Given the description of an element on the screen output the (x, y) to click on. 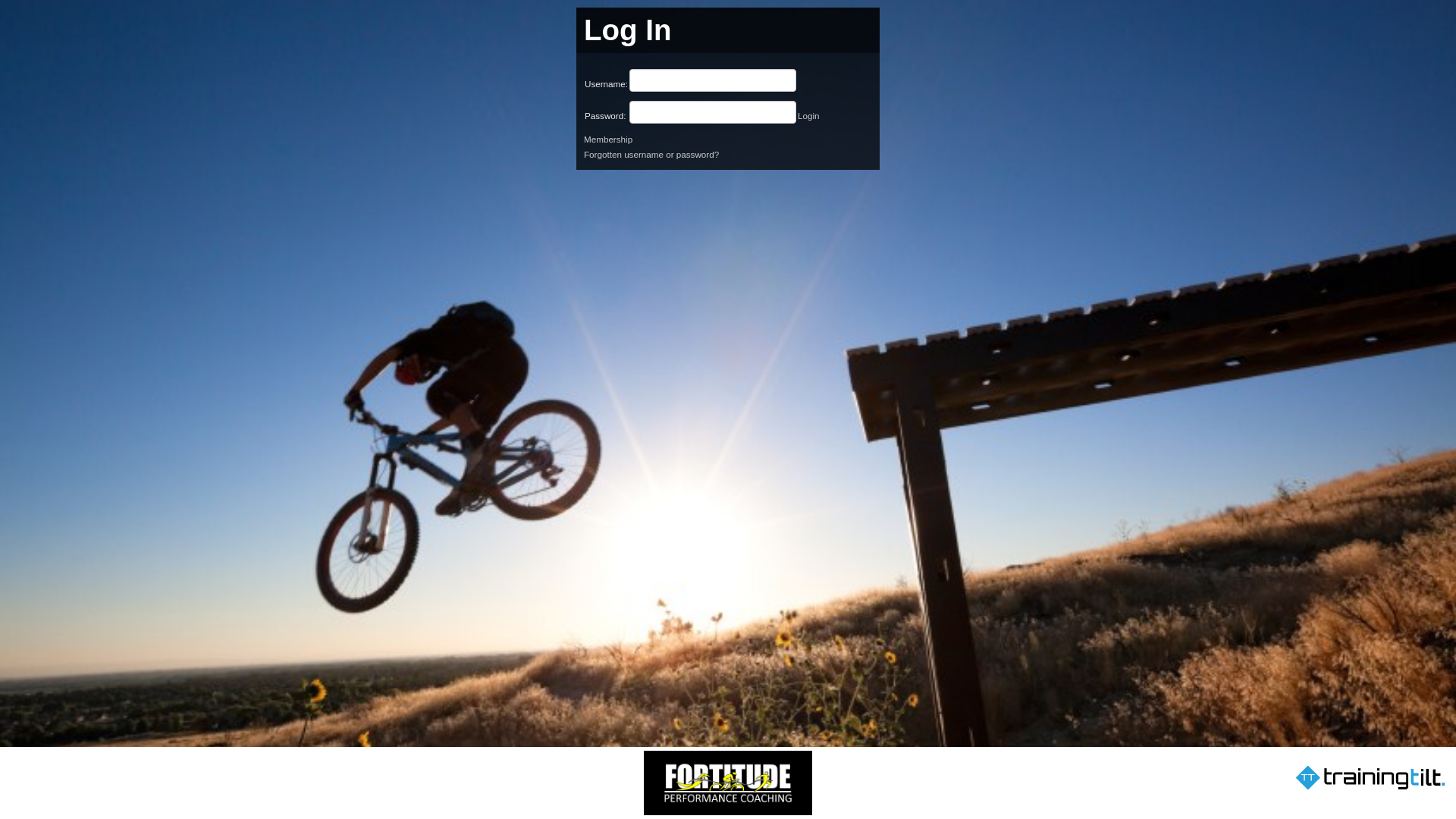
Login Element type: text (808, 115)
Forgotten username or password? Element type: text (650, 154)
Membership Element type: text (607, 139)
